Given the description of an element on the screen output the (x, y) to click on. 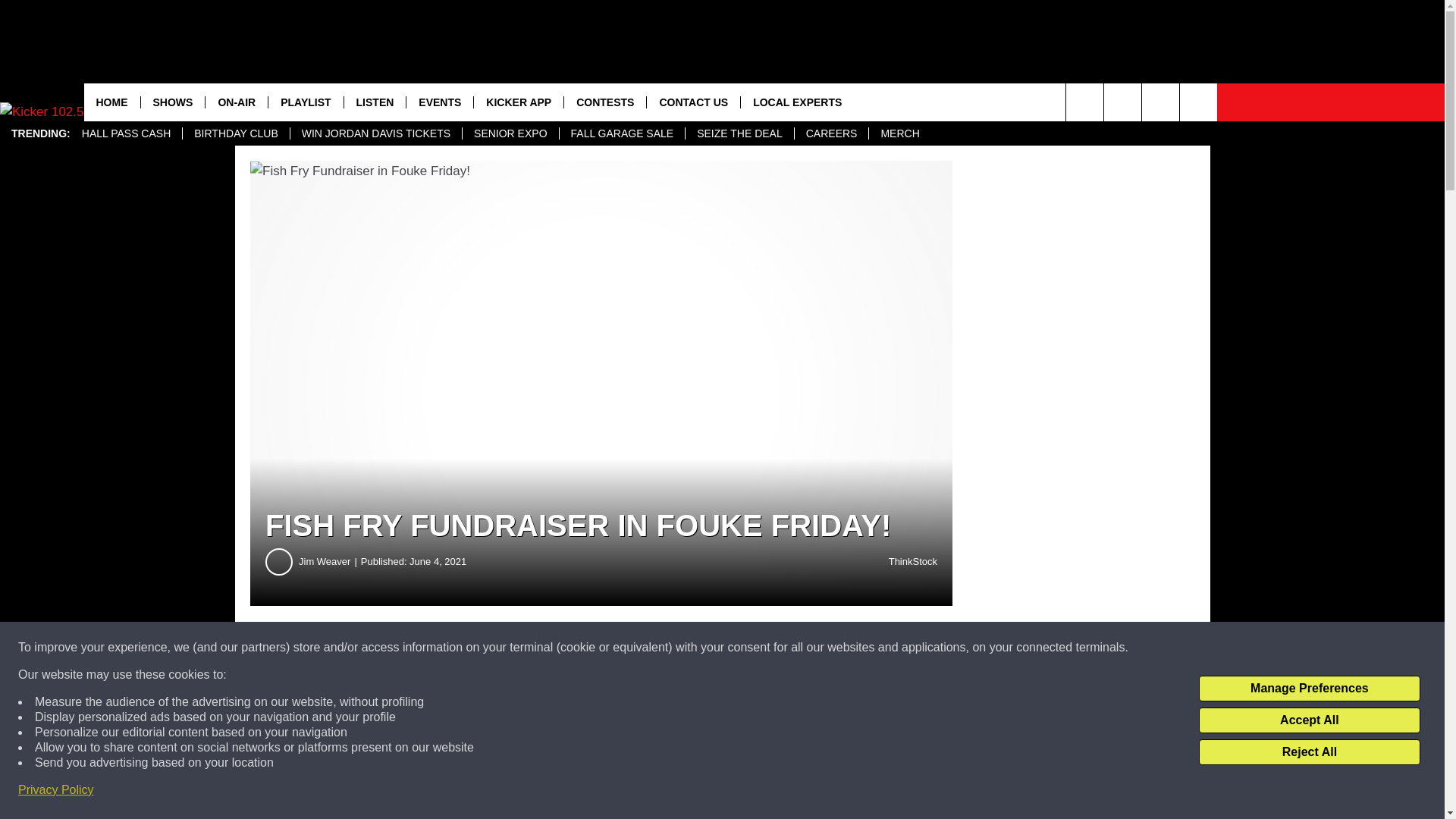
SENIOR EXPO (509, 133)
KICKER APP (518, 102)
CONTESTS (604, 102)
ON-AIR (236, 102)
Share on Facebook (460, 647)
HALL PASS CASH (126, 133)
MERCH (898, 133)
CAREERS (831, 133)
WIN JORDAN DAVIS TICKETS (375, 133)
SHOWS (172, 102)
